Given the description of an element on the screen output the (x, y) to click on. 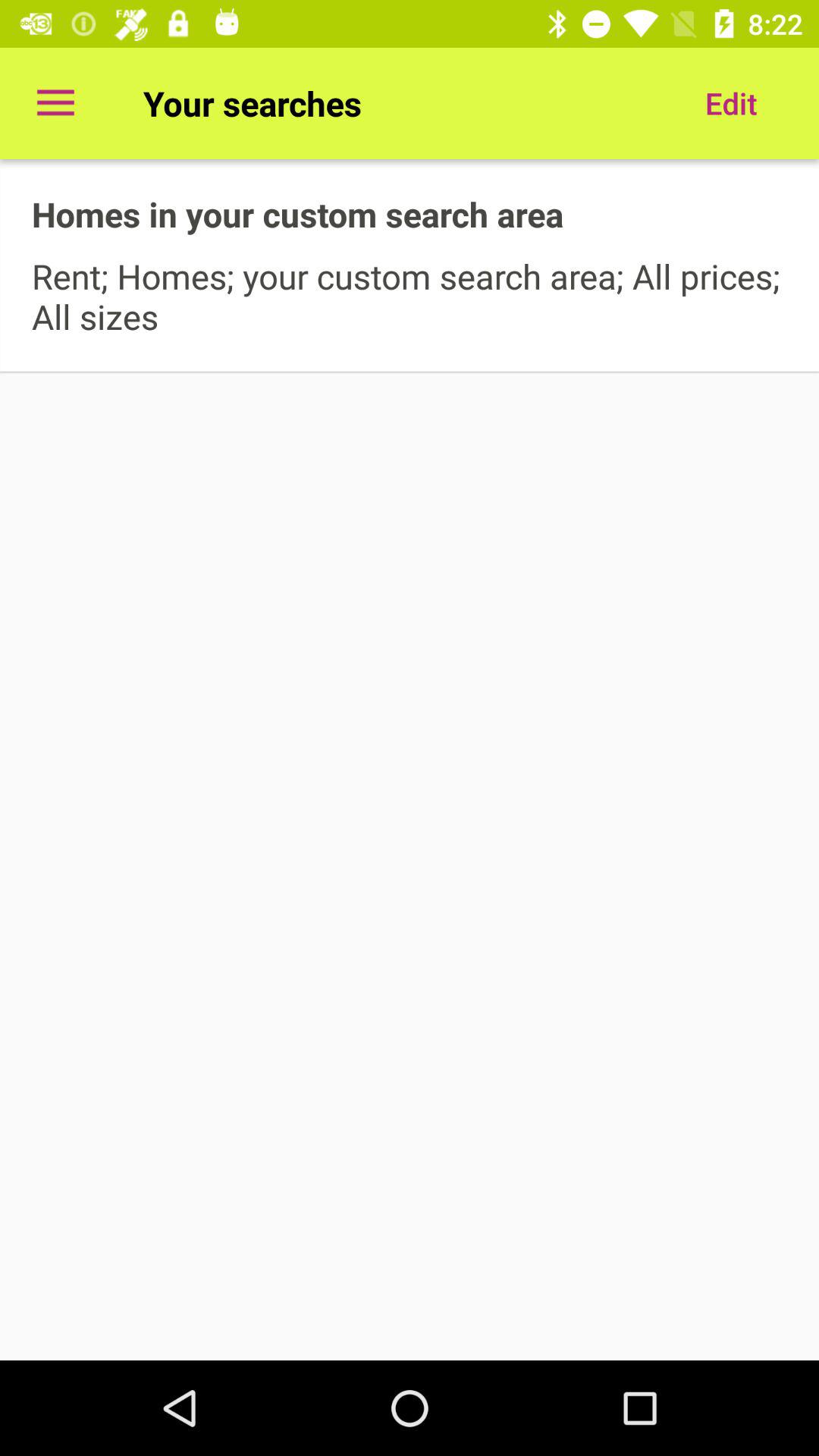
press the icon at the top right corner (731, 103)
